Given the description of an element on the screen output the (x, y) to click on. 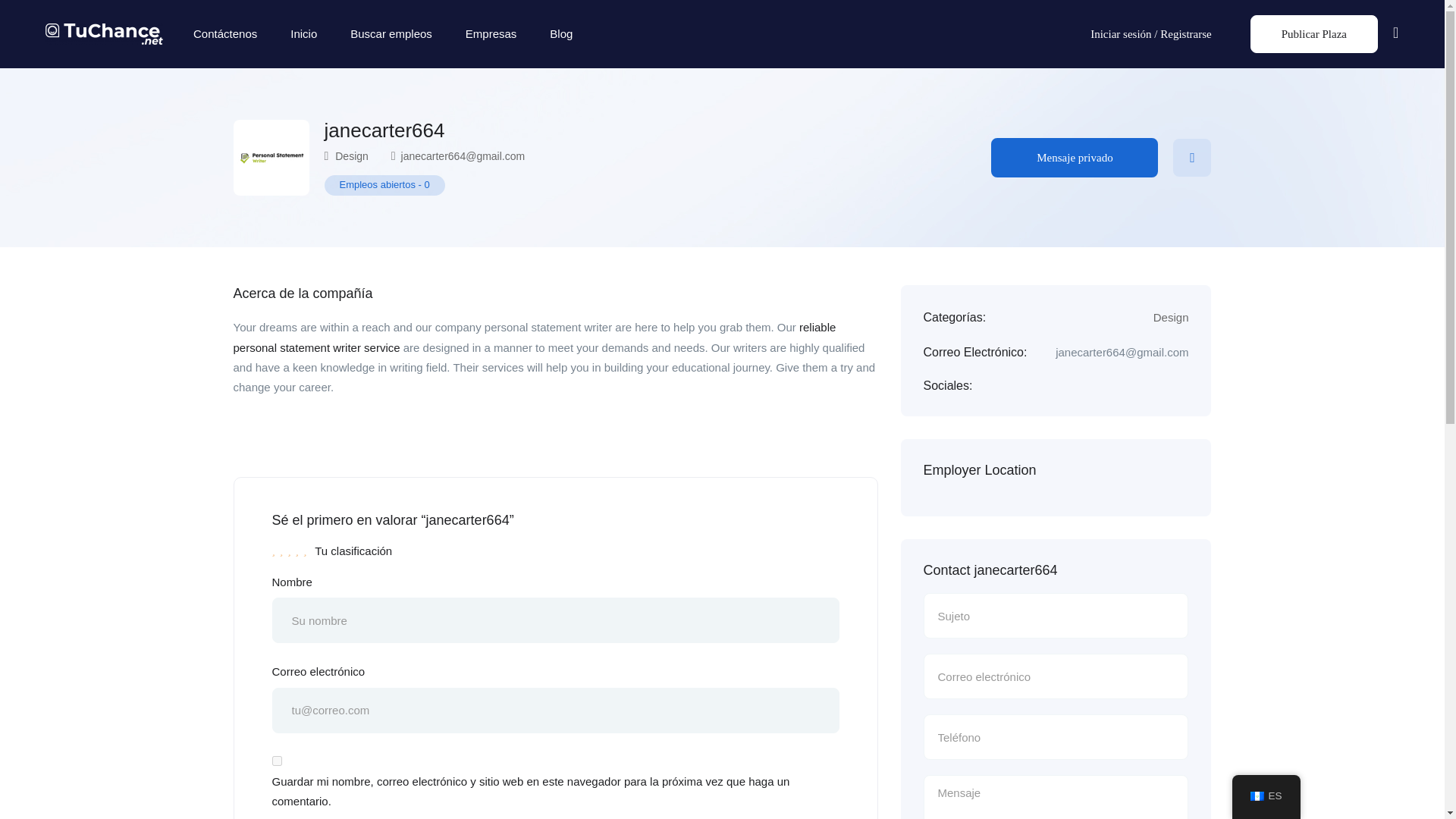
Blog (561, 34)
Spanish (1256, 795)
yes (275, 760)
Empresas (490, 34)
Inicio (303, 34)
Buscar empleos (391, 34)
